Given the description of an element on the screen output the (x, y) to click on. 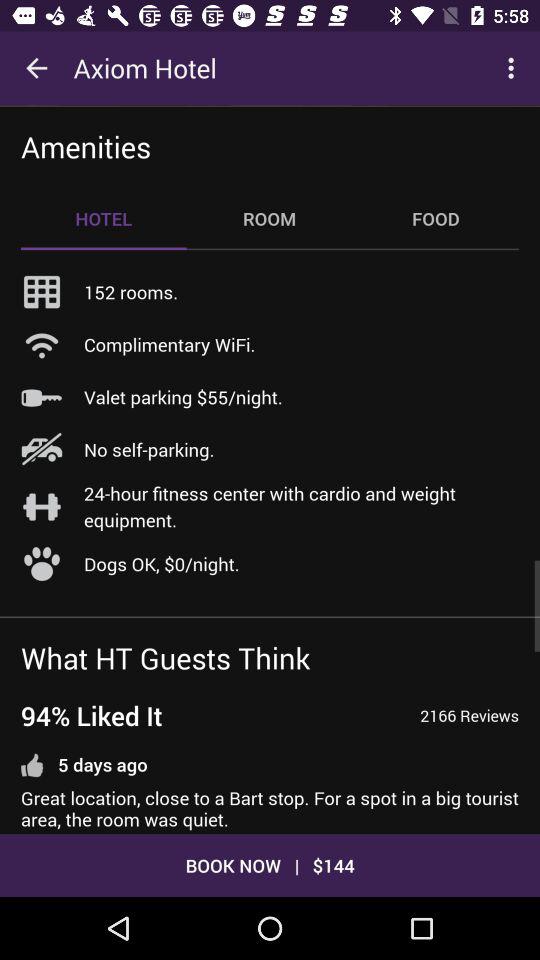
tap item above complimentary wifi. item (131, 291)
